Given the description of an element on the screen output the (x, y) to click on. 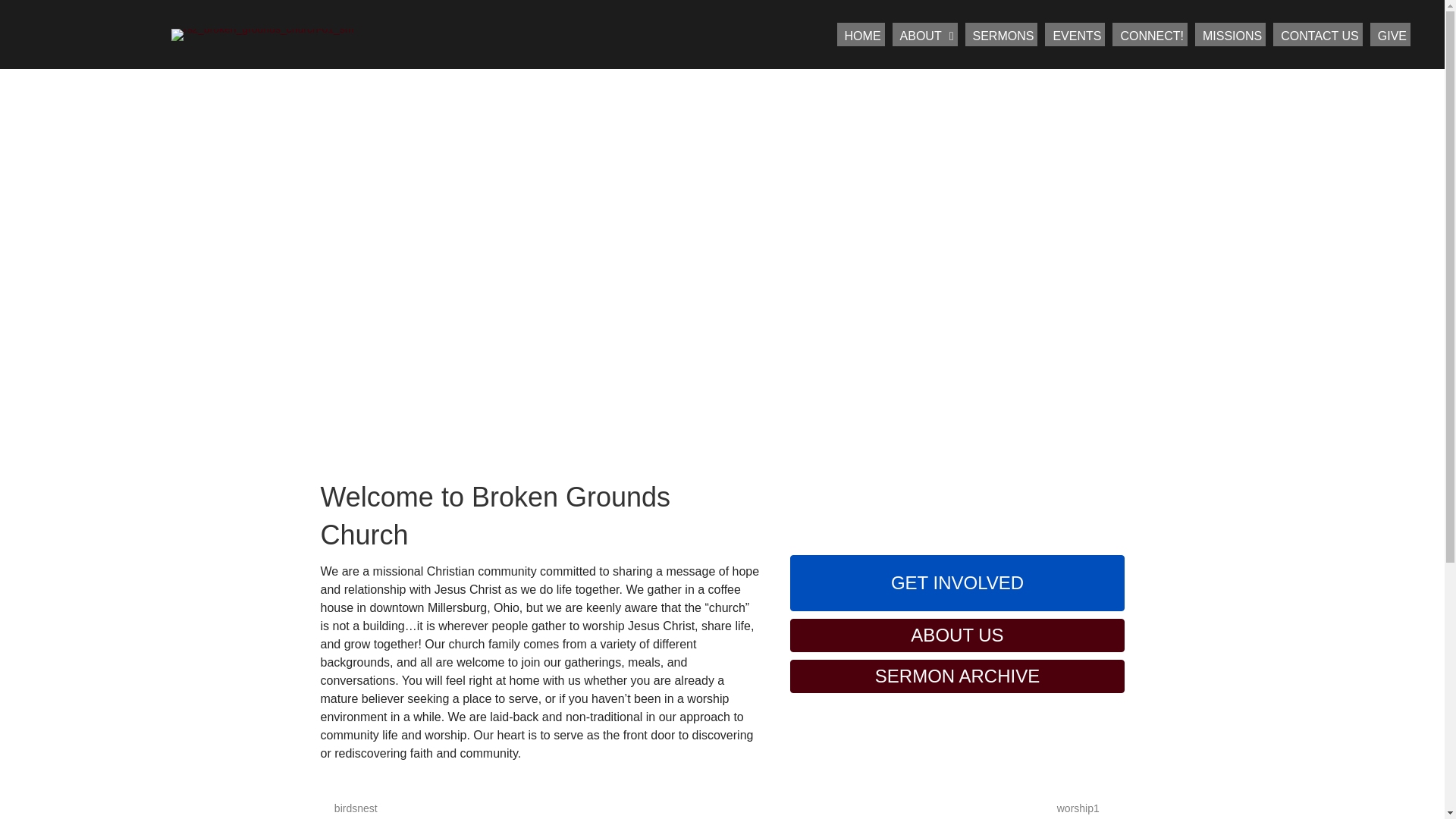
MISSIONS (1230, 33)
ABOUT US (957, 635)
GET INVOLVED (957, 582)
CONNECT! (1150, 33)
EVENTS (1075, 33)
SERMON ARCHIVE (957, 676)
HOME (861, 33)
SERMONS (1001, 33)
ABOUT (925, 33)
GIVE (1390, 33)
